Given the description of an element on the screen output the (x, y) to click on. 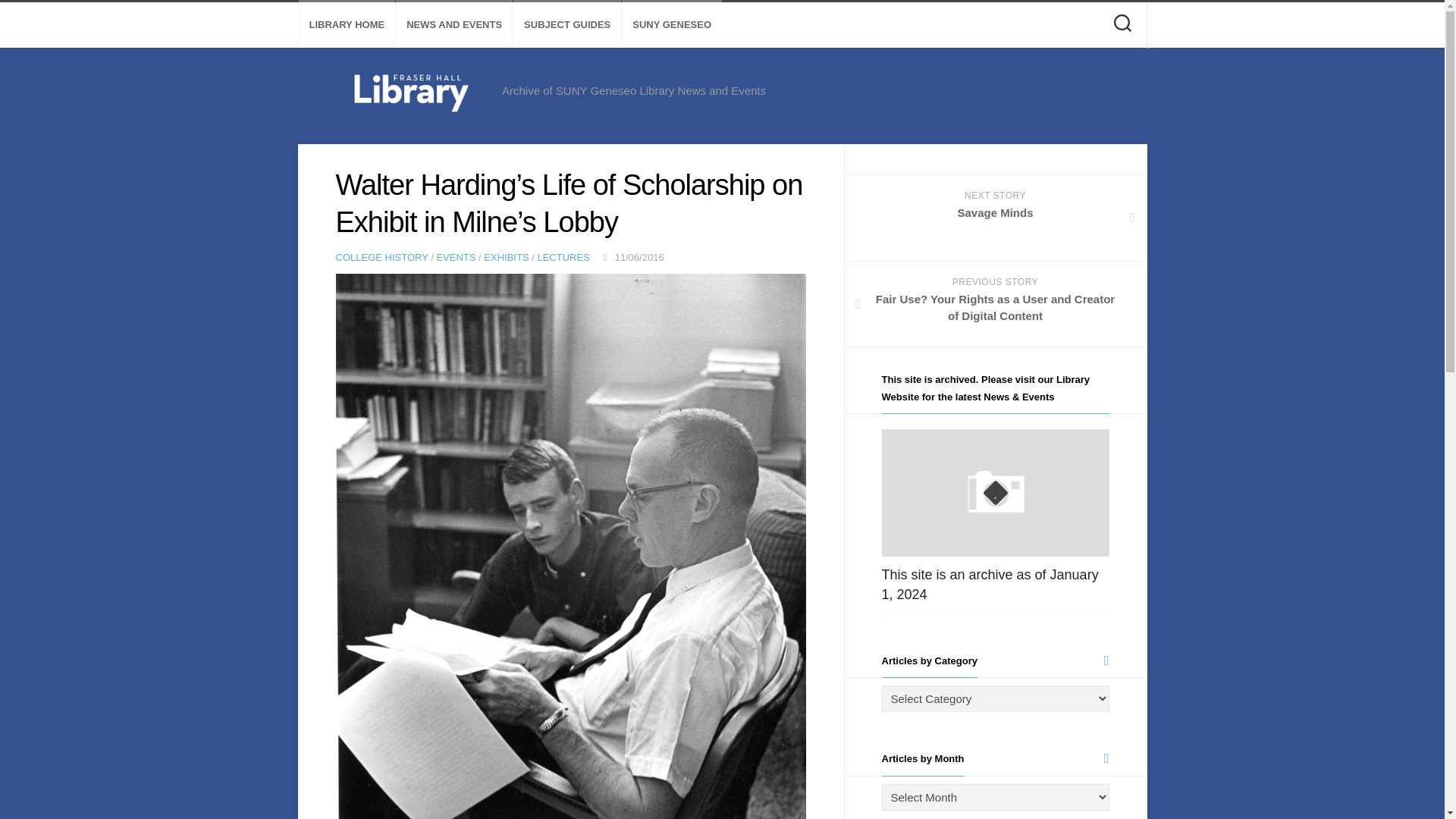
EXHIBITS (505, 256)
SUNY GENESEO (671, 24)
LIBRARY HOME (995, 217)
This site is an archive as of January 1, 2024 (346, 24)
LECTURES (988, 584)
COLLEGE HISTORY (563, 256)
EVENTS (381, 256)
NEWS AND EVENTS (455, 256)
